Given the description of an element on the screen output the (x, y) to click on. 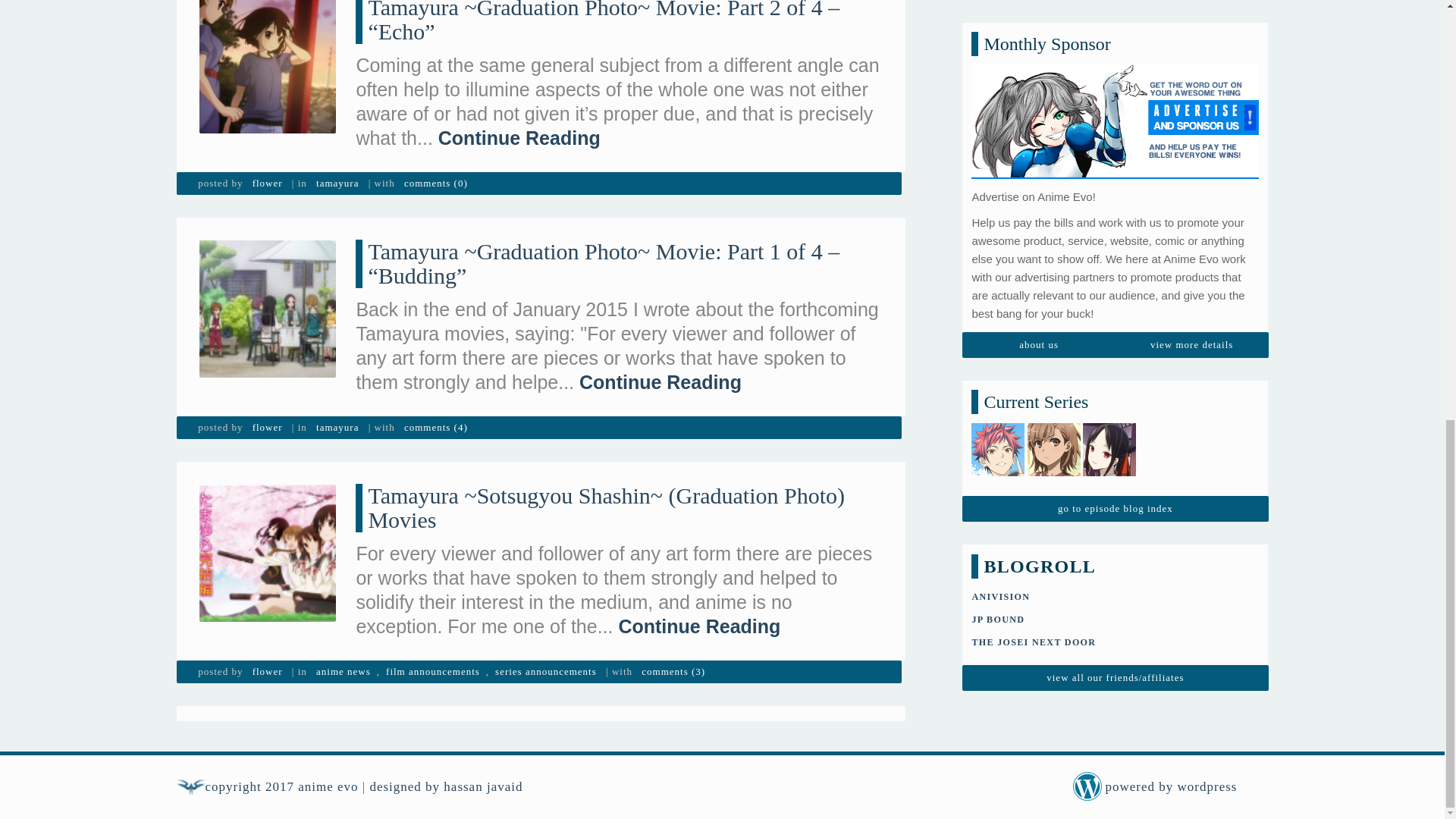
Great Anime Blog run by Dee! (1033, 118)
flower (267, 427)
Continue Reading (518, 137)
Posts by Flower (267, 671)
THE JOSEI NEXT DOOR (1033, 118)
Posts by Flower (267, 427)
flower (267, 182)
tamayura (337, 182)
Continue Reading (660, 382)
ANIVISION (1000, 72)
